Given the description of an element on the screen output the (x, y) to click on. 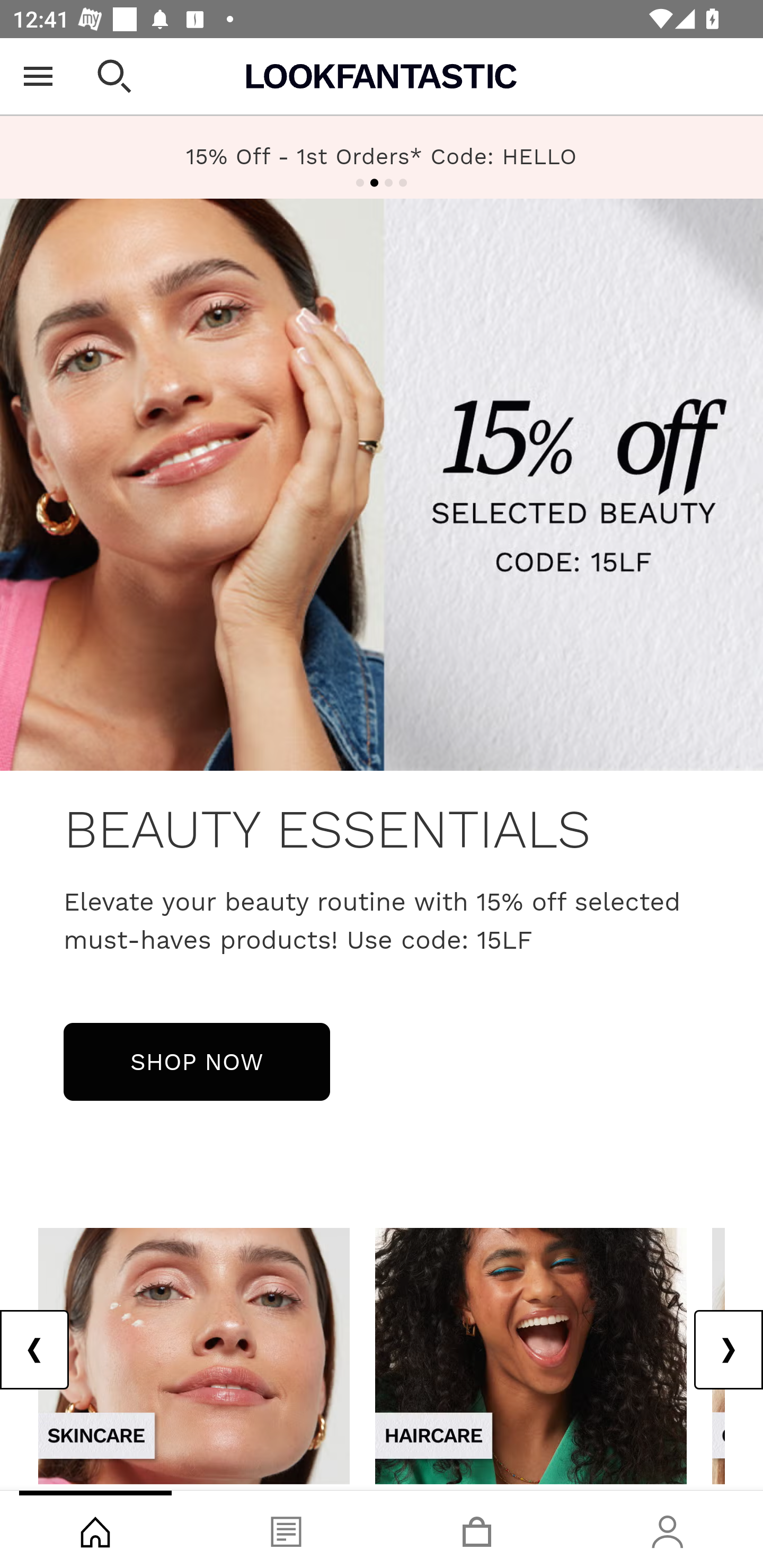
Open Menu (38, 75)
Open search (114, 75)
Lookfantastic USA (381, 75)
SHOP NOW (196, 1061)
view-all (193, 1355)
view-all (530, 1355)
Previous (35, 1349)
Next (727, 1349)
Shop, tab, 1 of 4 (95, 1529)
Blog, tab, 2 of 4 (285, 1529)
Basket, tab, 3 of 4 (476, 1529)
Account, tab, 4 of 4 (667, 1529)
